Given the description of an element on the screen output the (x, y) to click on. 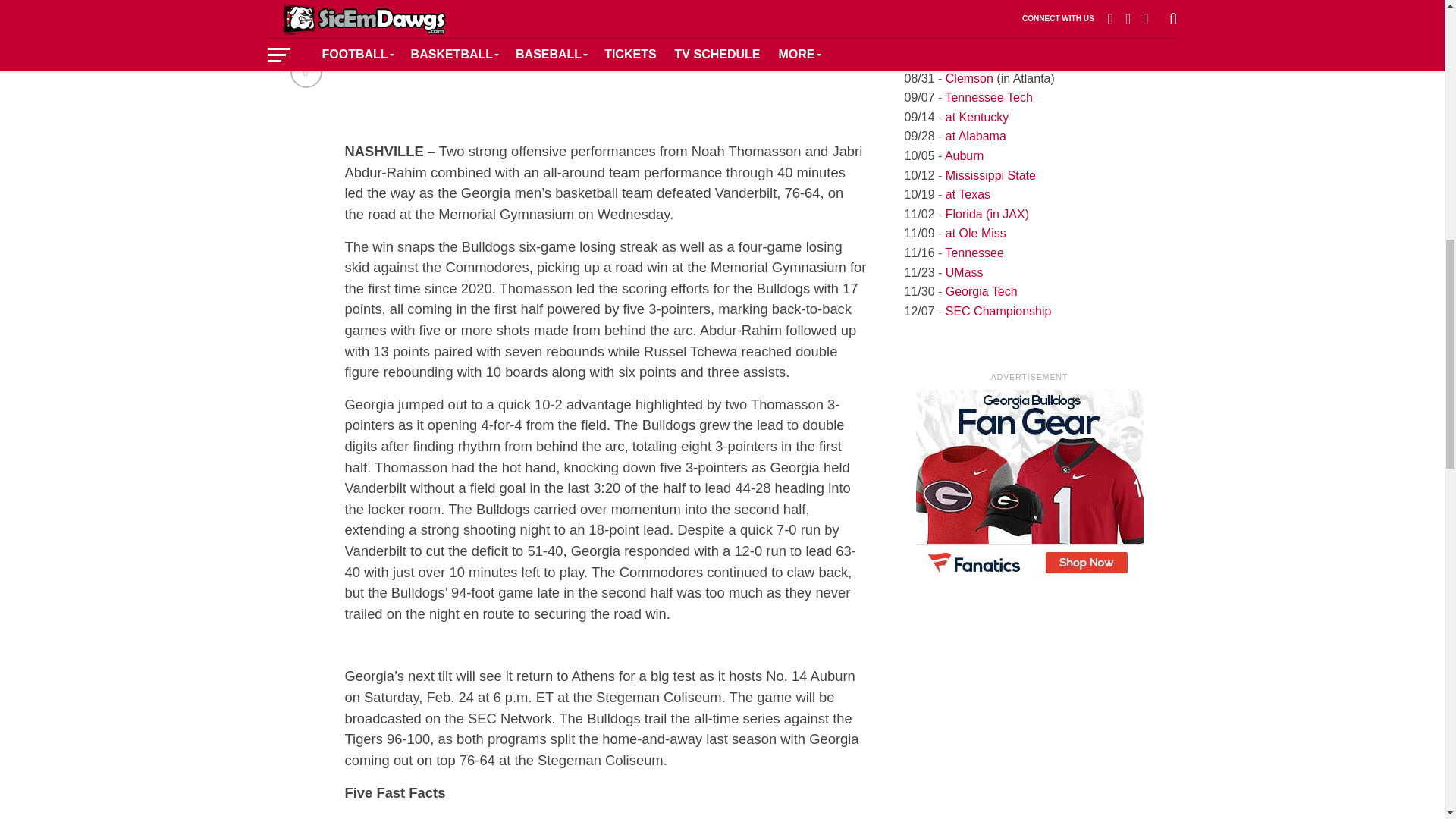
Advertisement (604, 63)
